Given the description of an element on the screen output the (x, y) to click on. 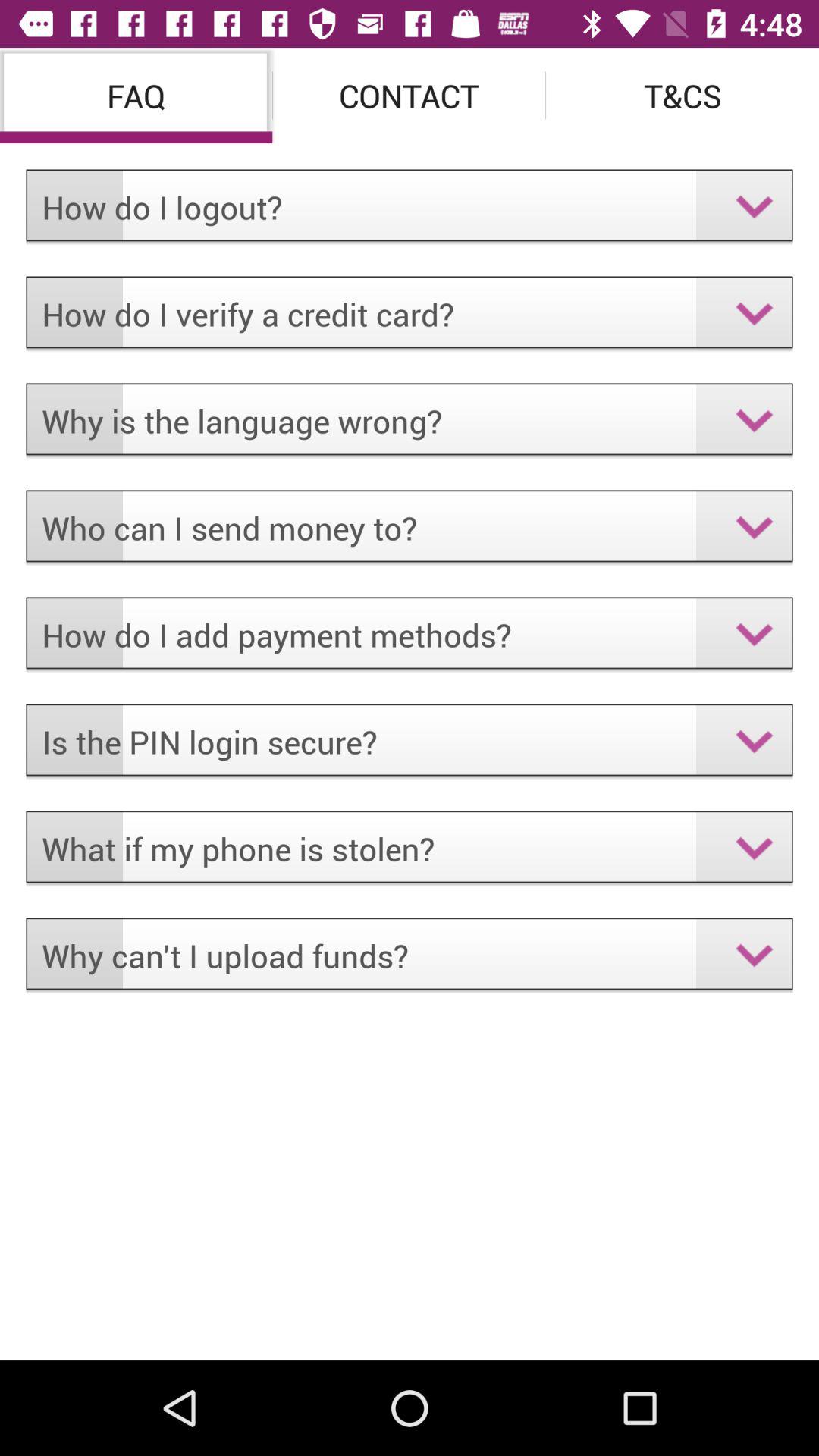
choose faq (136, 95)
